Given the description of an element on the screen output the (x, y) to click on. 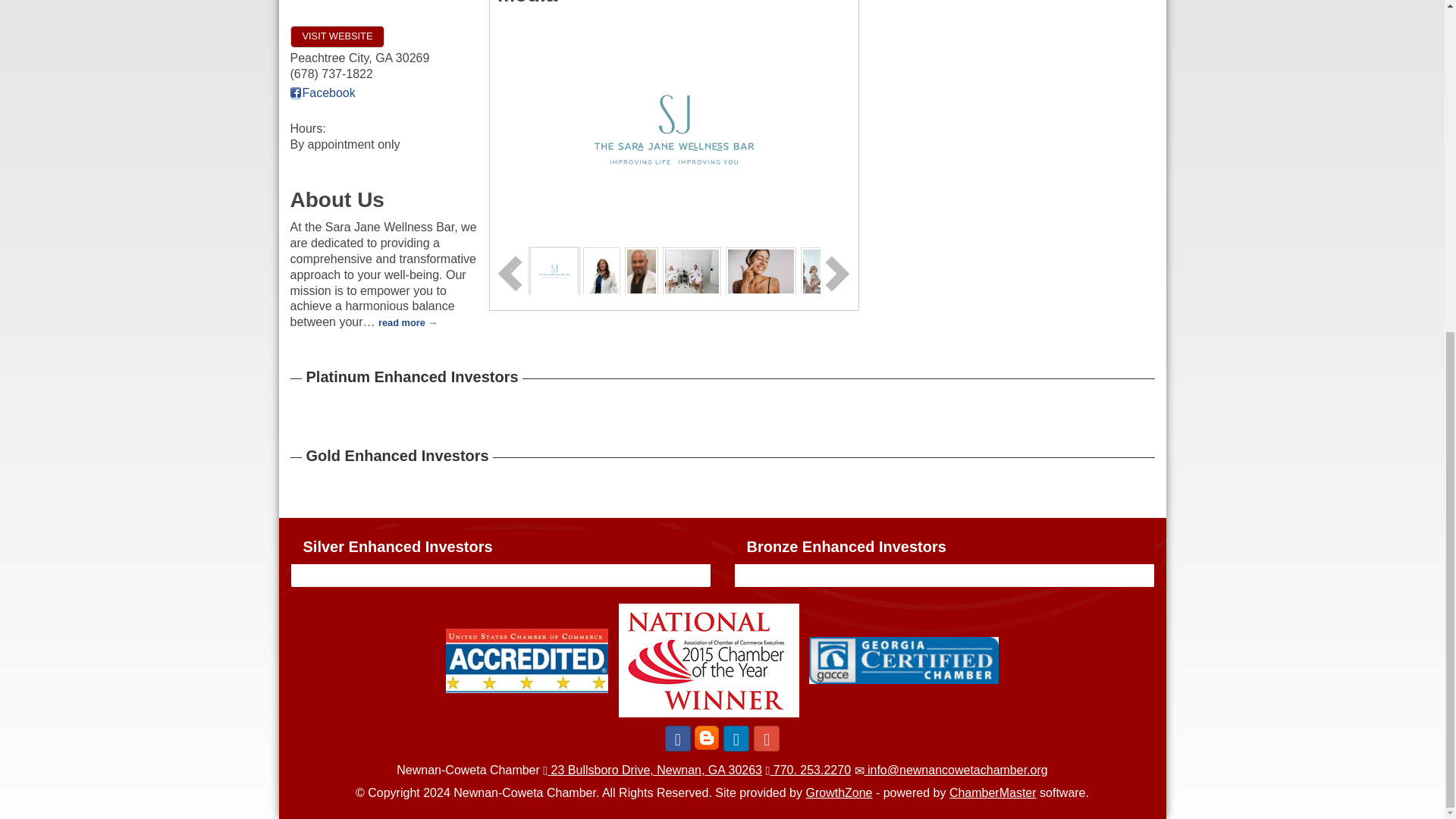
Sara Jane, Managing Director (601, 269)
Concierge Specialty IV Therapy (691, 269)
Karim, Operations Manager (641, 271)
Concierge Specialty IV Therapy (691, 271)
Sara Jane, Managing Director (601, 271)
Visit the website of The Sara Jane Wellness Bar (336, 36)
Midlife Maven's Group: Embracing Change, Redefining Self (835, 269)
Midlife Maven's Group: Embracing Change, Redefining Self (835, 271)
Karim, Operations Manager (641, 269)
BeautyCare Essentials (760, 271)
BeautyCare Essentials (760, 269)
Visit The Sara Jane Wellness Bar at Facebook (322, 92)
